Given the description of an element on the screen output the (x, y) to click on. 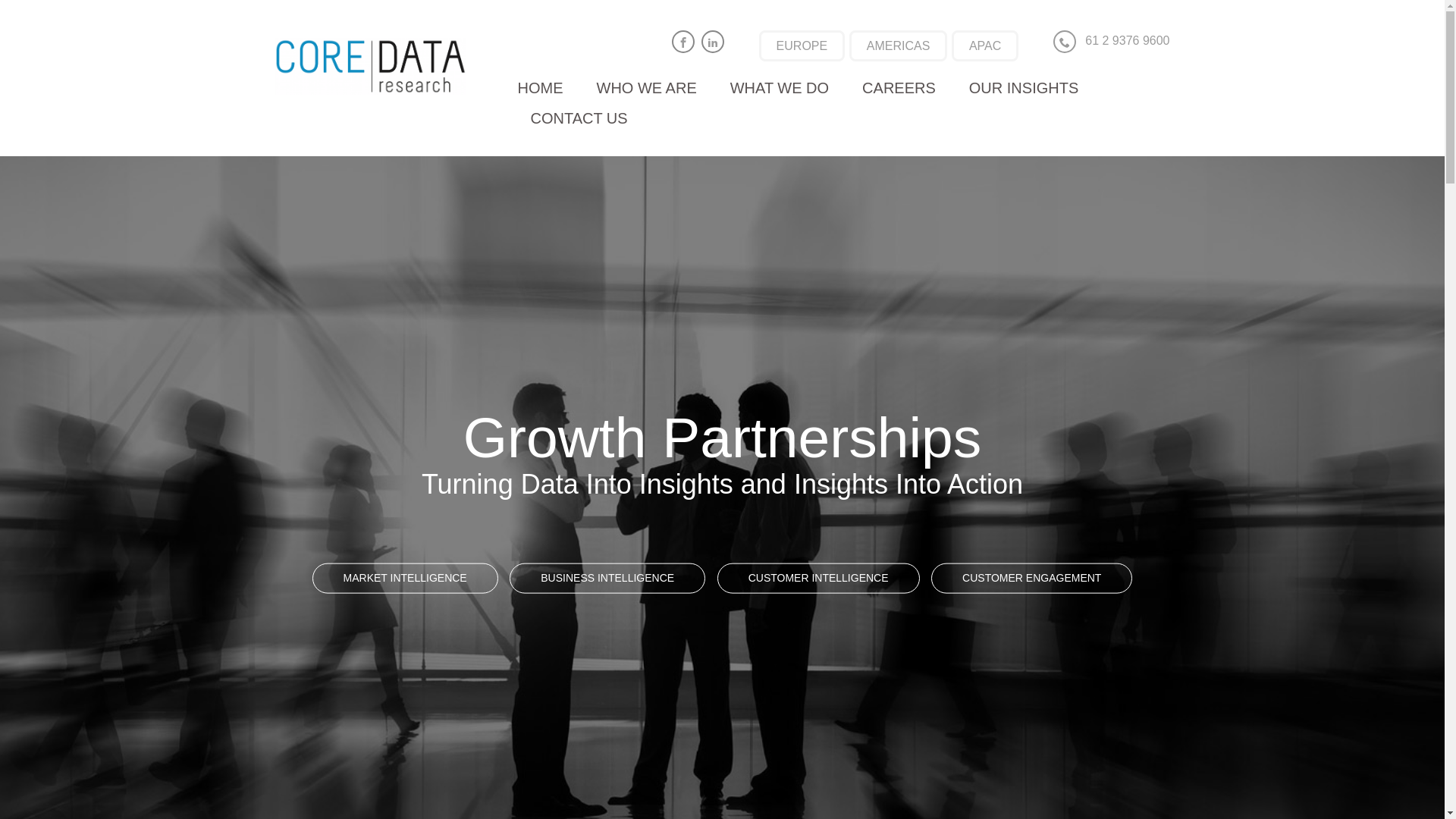
CAREERS Element type: text (898, 87)
WHO WE ARE Element type: text (646, 87)
OUR INSIGHTS Element type: text (1023, 87)
AMERICAS Element type: text (898, 45)
HOME Element type: text (540, 87)
BUSINESS INTELLIGENCE Element type: text (607, 578)
WHAT WE DO Element type: text (779, 87)
APAC Element type: text (984, 45)
CUSTOMER INTELLIGENCE Element type: text (818, 578)
CUSTOMER ENGAGEMENT Element type: text (1031, 578)
CORE DATA Element type: hover (380, 65)
EUROPE Element type: text (802, 45)
CONTACT US Element type: text (578, 118)
MARKET INTELLIGENCE Element type: text (405, 578)
